Given the description of an element on the screen output the (x, y) to click on. 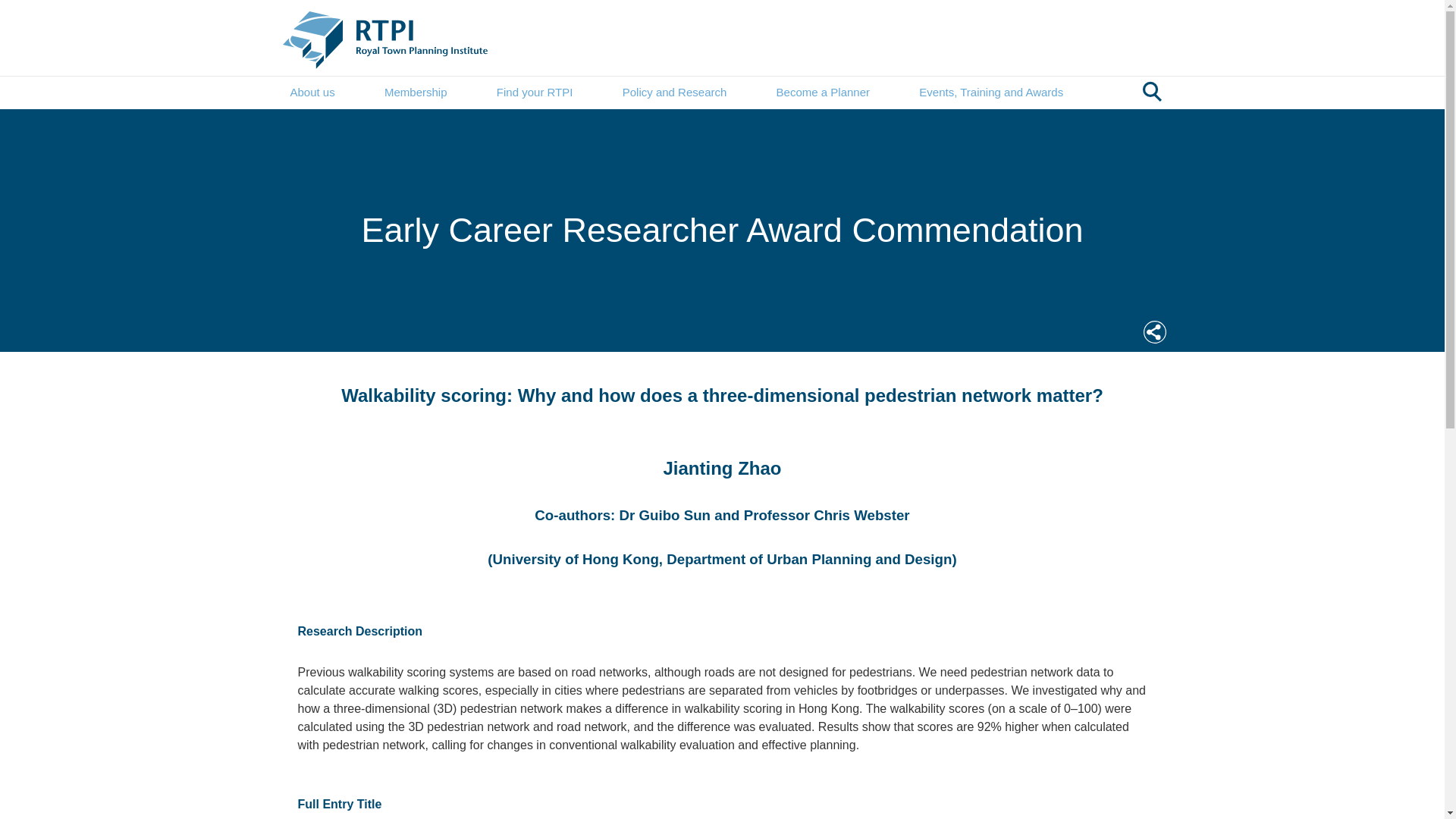
Policy, Practice, and Research (674, 92)
Find your RTPI (534, 92)
About us (311, 92)
Find your RTPI (534, 92)
About us (311, 92)
Become a planner (822, 92)
Events, Training and Awards (990, 92)
Membership (415, 92)
Membership (415, 92)
